Given the description of an element on the screen output the (x, y) to click on. 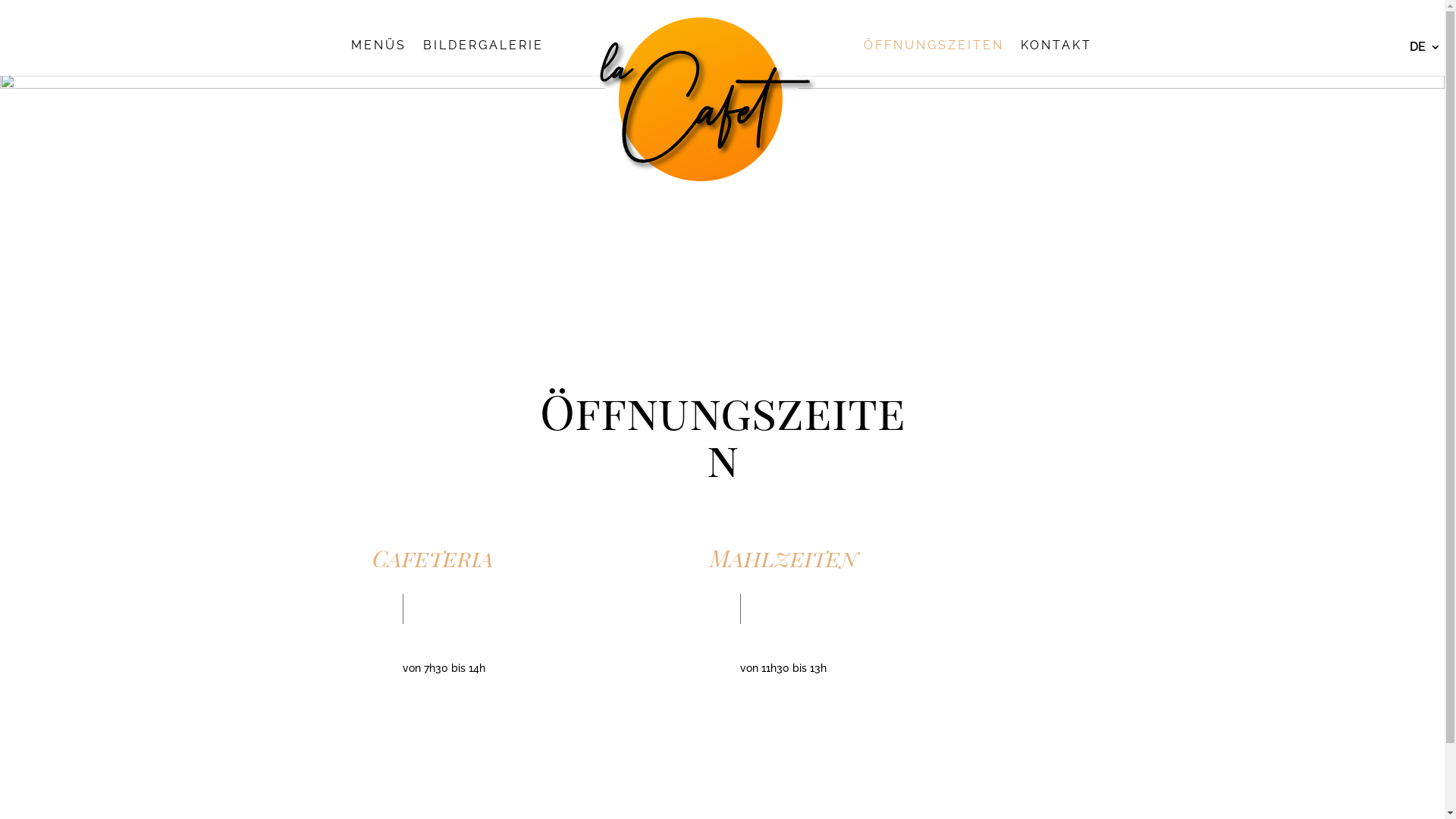
KONTAKT Element type: text (1056, 57)
DE Element type: text (1424, 51)
BILDERGALERIE Element type: text (483, 57)
